Given the description of an element on the screen output the (x, y) to click on. 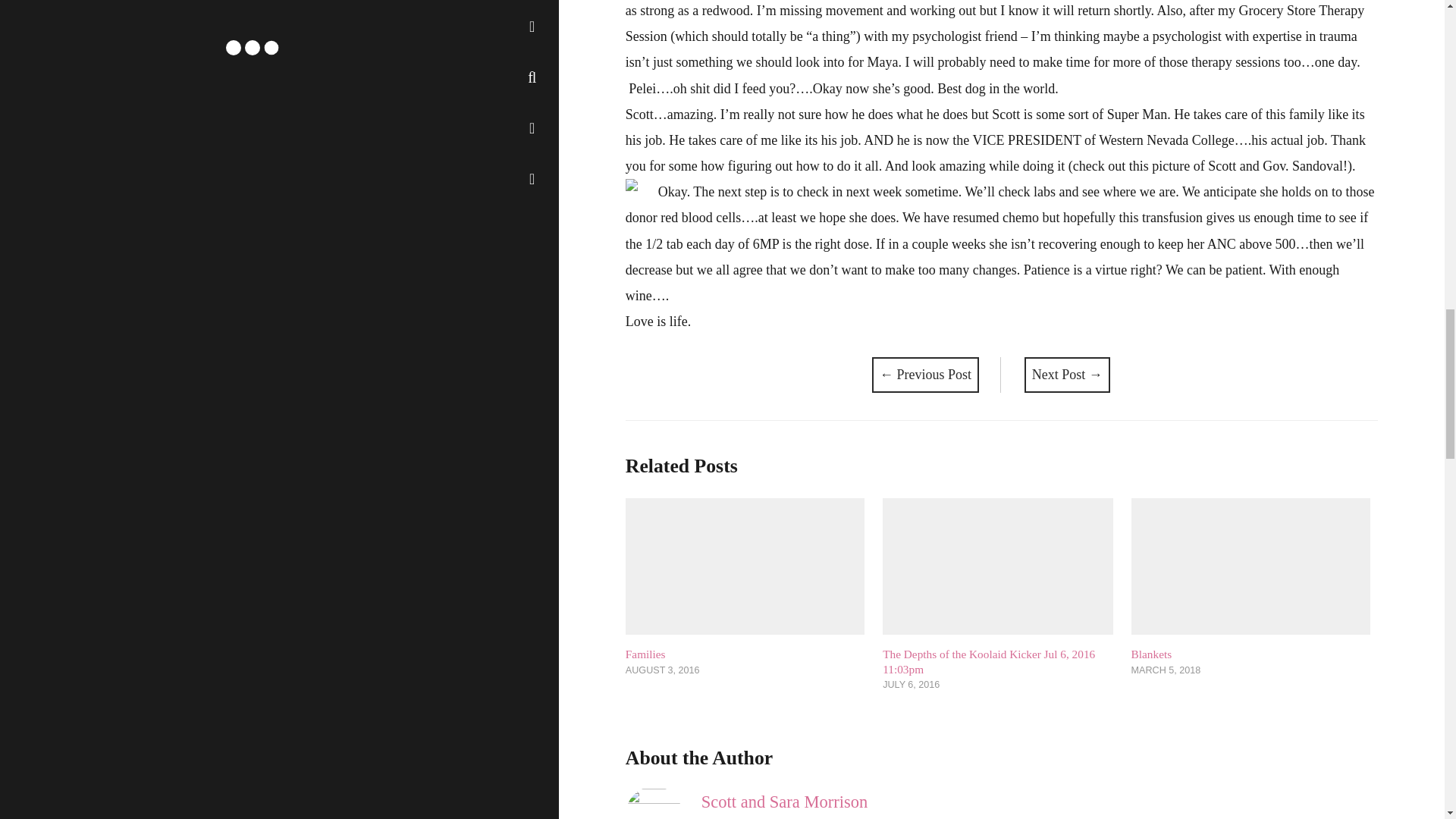
Blankets (1151, 653)
Posts by Scott and Sara Morrison (784, 801)
The Depths of the Koolaid Kicker Jul 6, 2016 11:03pm (988, 661)
Families (645, 653)
Scott and Sara Morrison (784, 801)
